Given the description of an element on the screen output the (x, y) to click on. 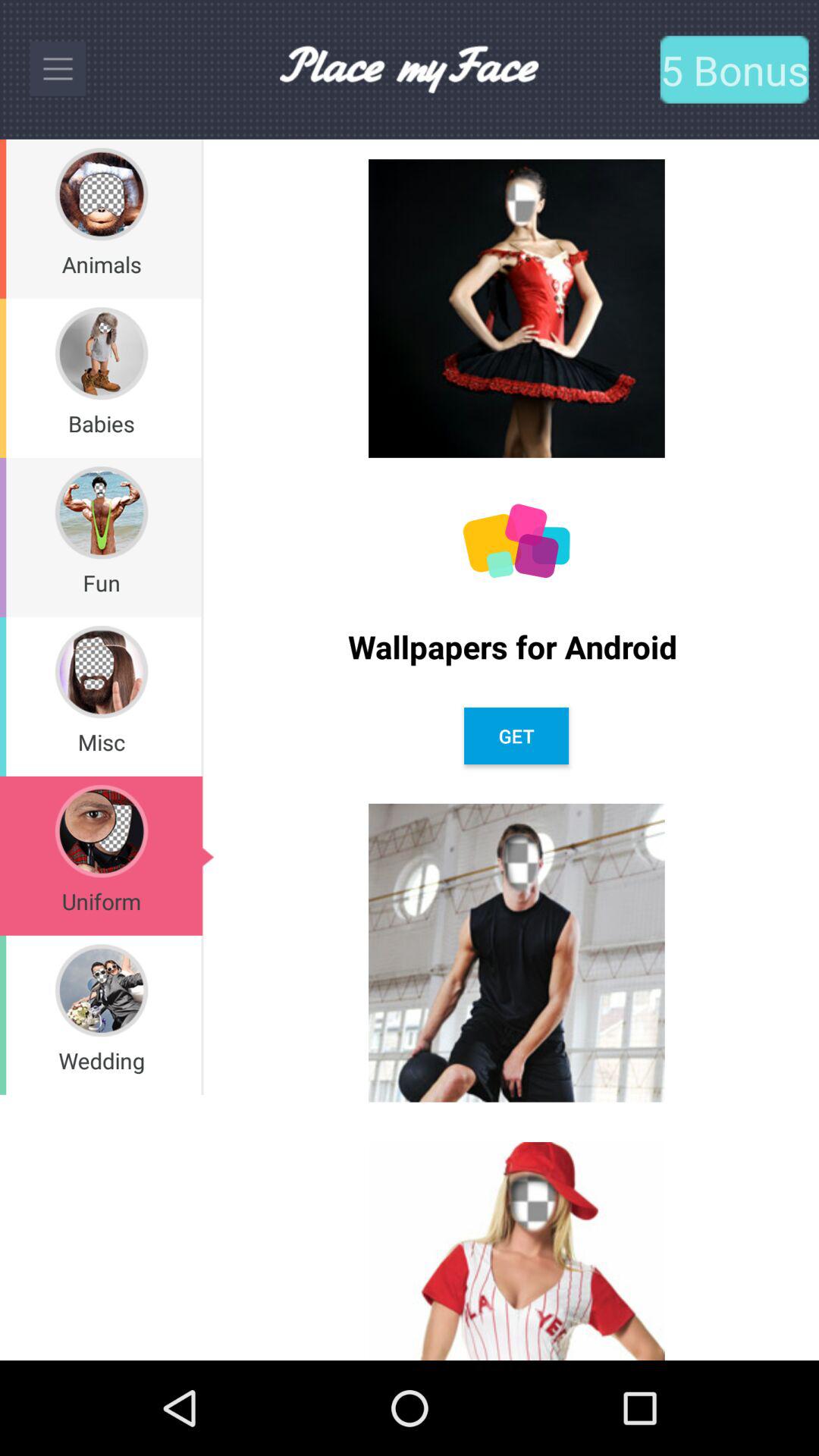
tap the icon to the left of the wallpapers for android (202, 696)
